Given the description of an element on the screen output the (x, y) to click on. 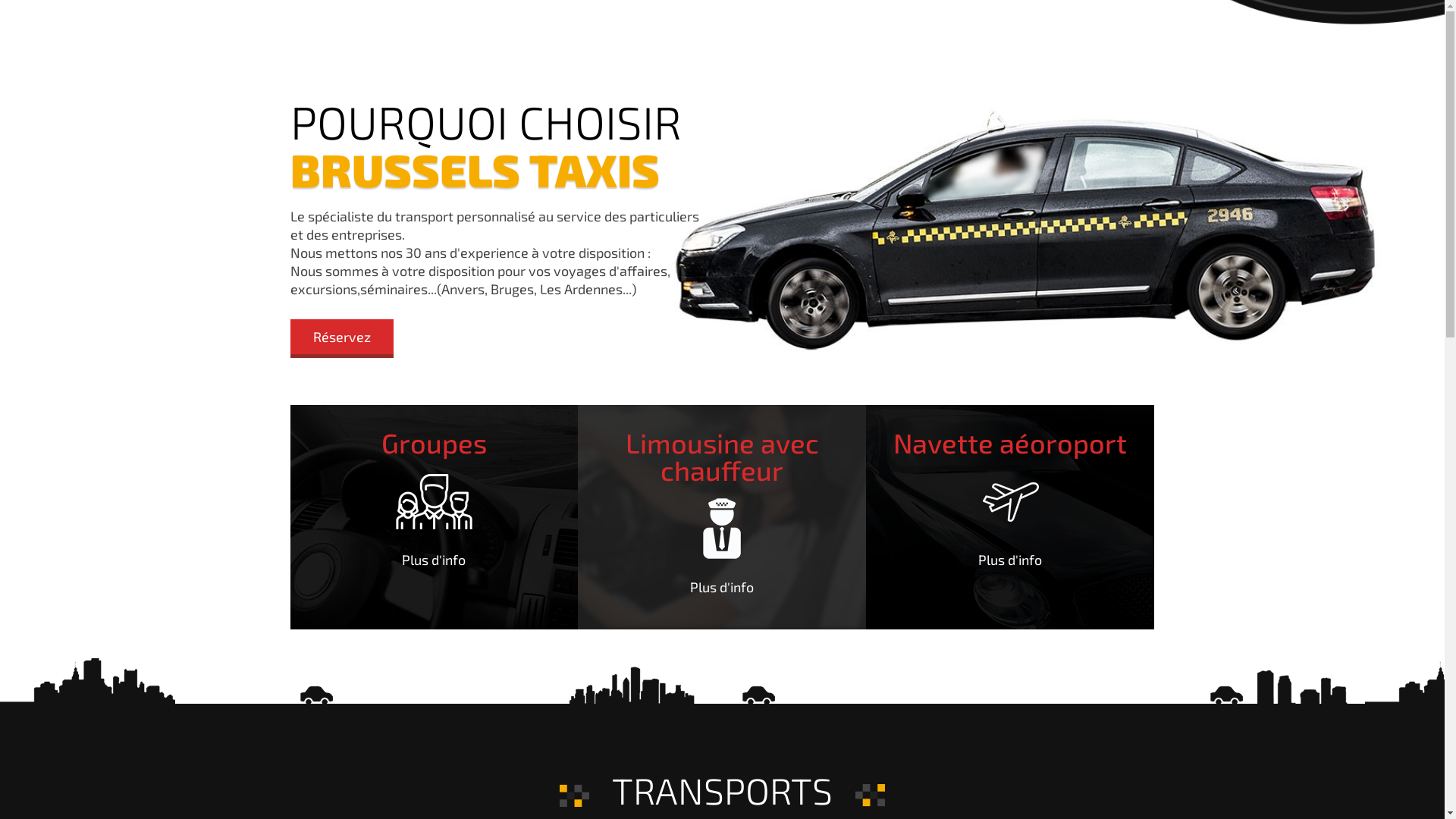
Brussels Taxis - Brussels Taxis Element type: hover (721, 528)
Brussels Taxis - Limousine avec chauffeur Element type: hover (721, 516)
Taxi de luxe - Limousine - Mercedes Element type: hover (433, 516)
Plus d'info Element type: text (721, 586)
Brussels Taxis - Brussels Taxis Element type: hover (433, 501)
Plus d'info Element type: text (433, 559)
Plus d'info Element type: text (1009, 559)
